Given the description of an element on the screen output the (x, y) to click on. 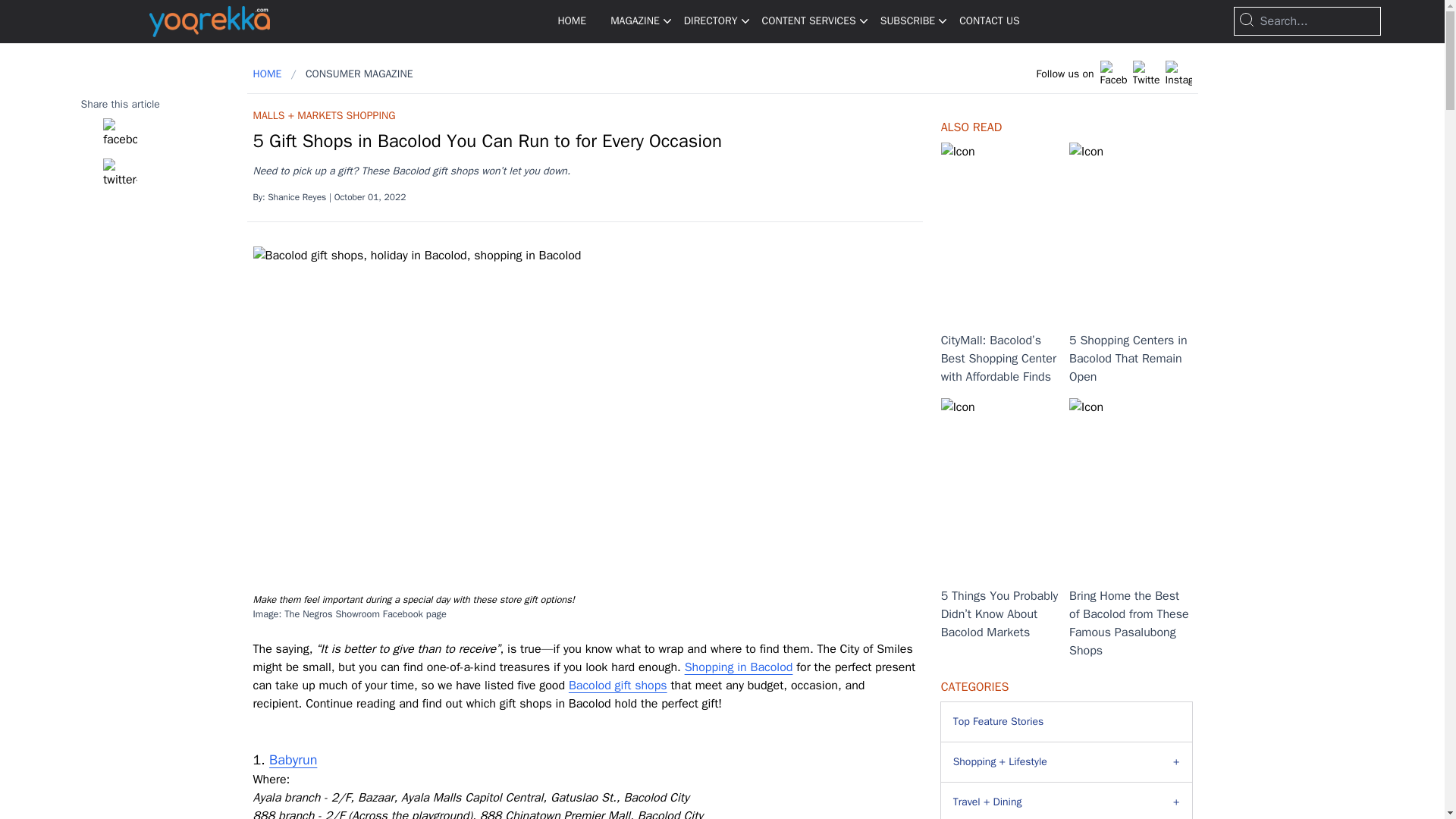
Instagram (1177, 73)
Facebook (1112, 73)
HOME (565, 20)
Facebook (119, 175)
Facebook (119, 134)
Twitter (1145, 73)
